Given the description of an element on the screen output the (x, y) to click on. 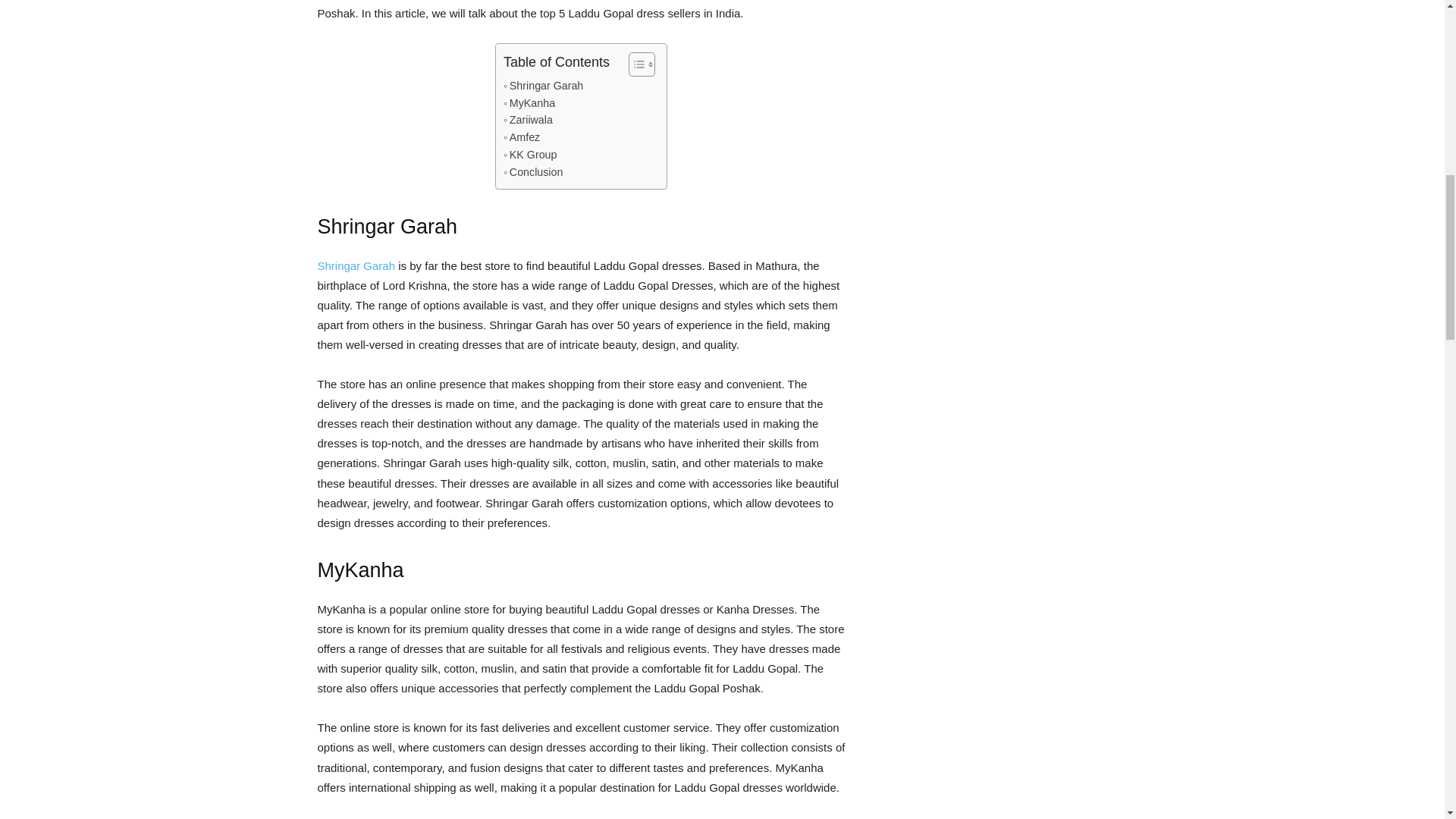
KK Group (529, 154)
Conclusion (532, 171)
Amfez (521, 137)
MyKanha (528, 103)
Zariiwala (528, 119)
Shringar Garah (543, 85)
